Given the description of an element on the screen output the (x, y) to click on. 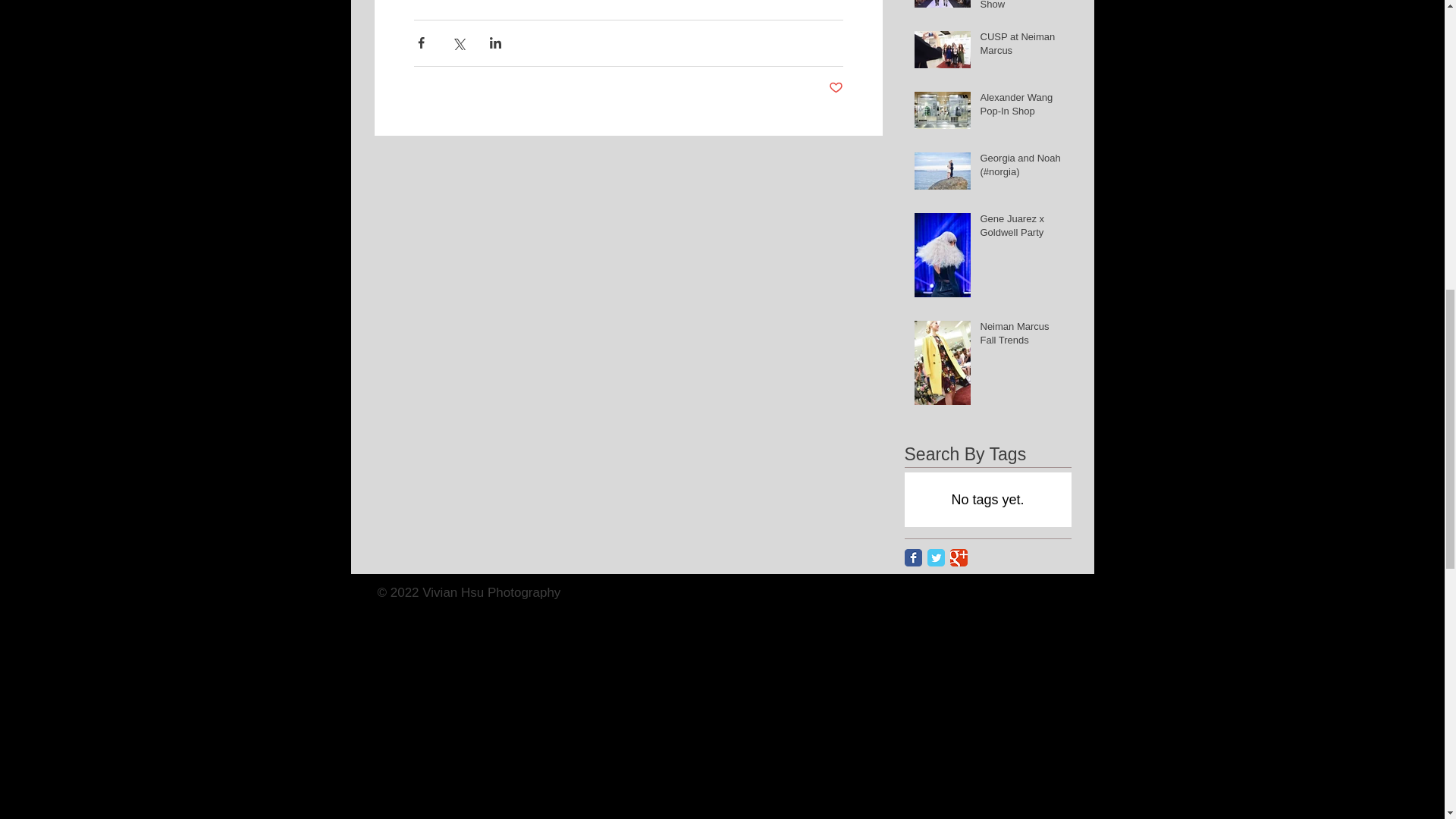
Independent Designer Runway Show (1020, 8)
Neiman Marcus Fall Trends (1020, 336)
CUSP at Neiman Marcus (1020, 46)
Post not marked as liked (835, 88)
Alexander Wang Pop-In Shop (1020, 107)
Gene Juarez x Goldwell Party (1020, 228)
